Given the description of an element on the screen output the (x, y) to click on. 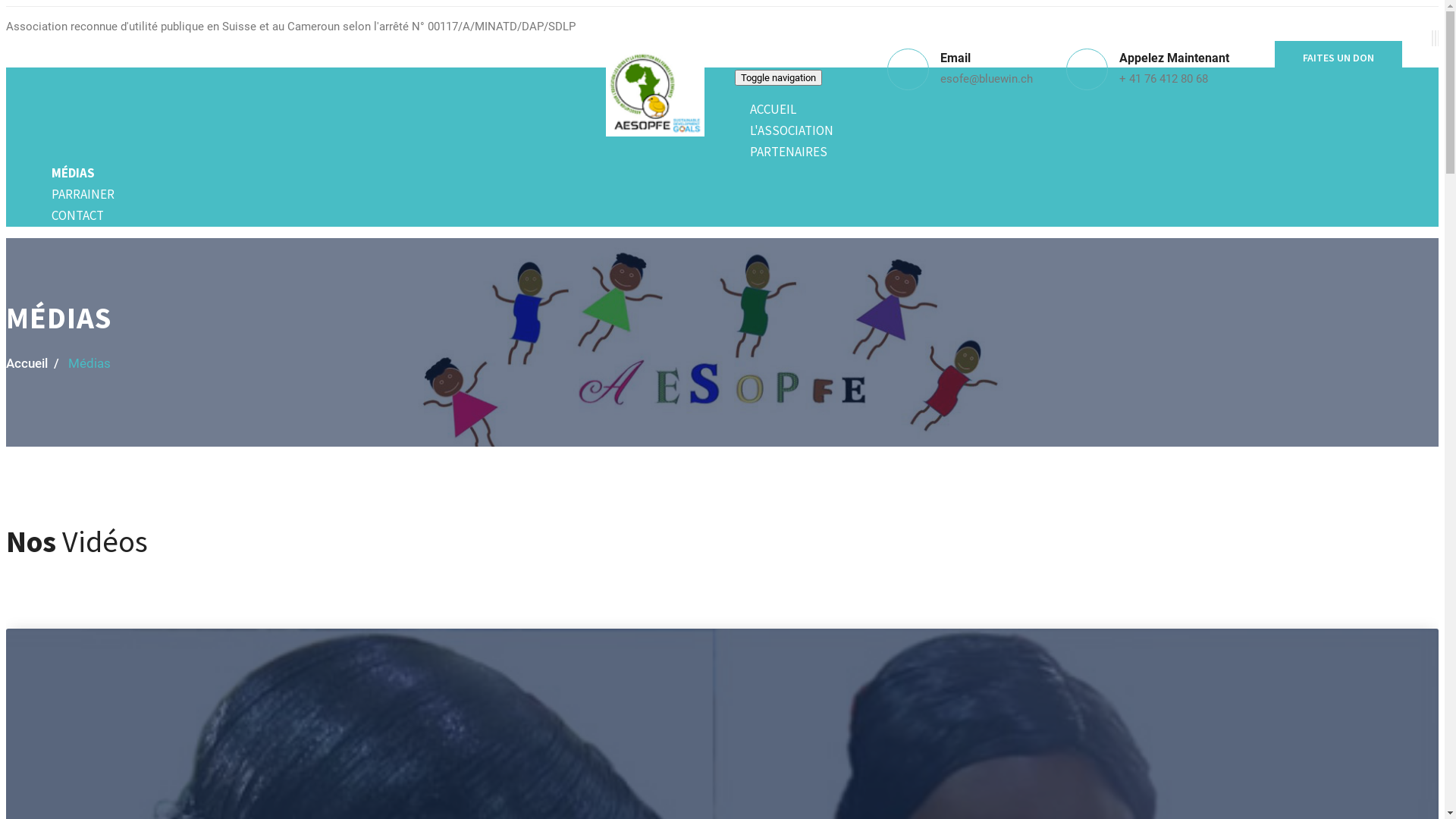
Toggle navigation Element type: text (778, 77)
PARTENAIRES Element type: text (788, 151)
CONTACT Element type: text (77, 215)
L'ASSOCIATION Element type: text (791, 130)
PARRAINER Element type: text (82, 193)
esofe@bluewin.ch Element type: text (986, 78)
Accueil  / Element type: text (32, 362)
FAITES UN DON Element type: text (1338, 57)
ACCUEIL Element type: text (772, 108)
